Given the description of an element on the screen output the (x, y) to click on. 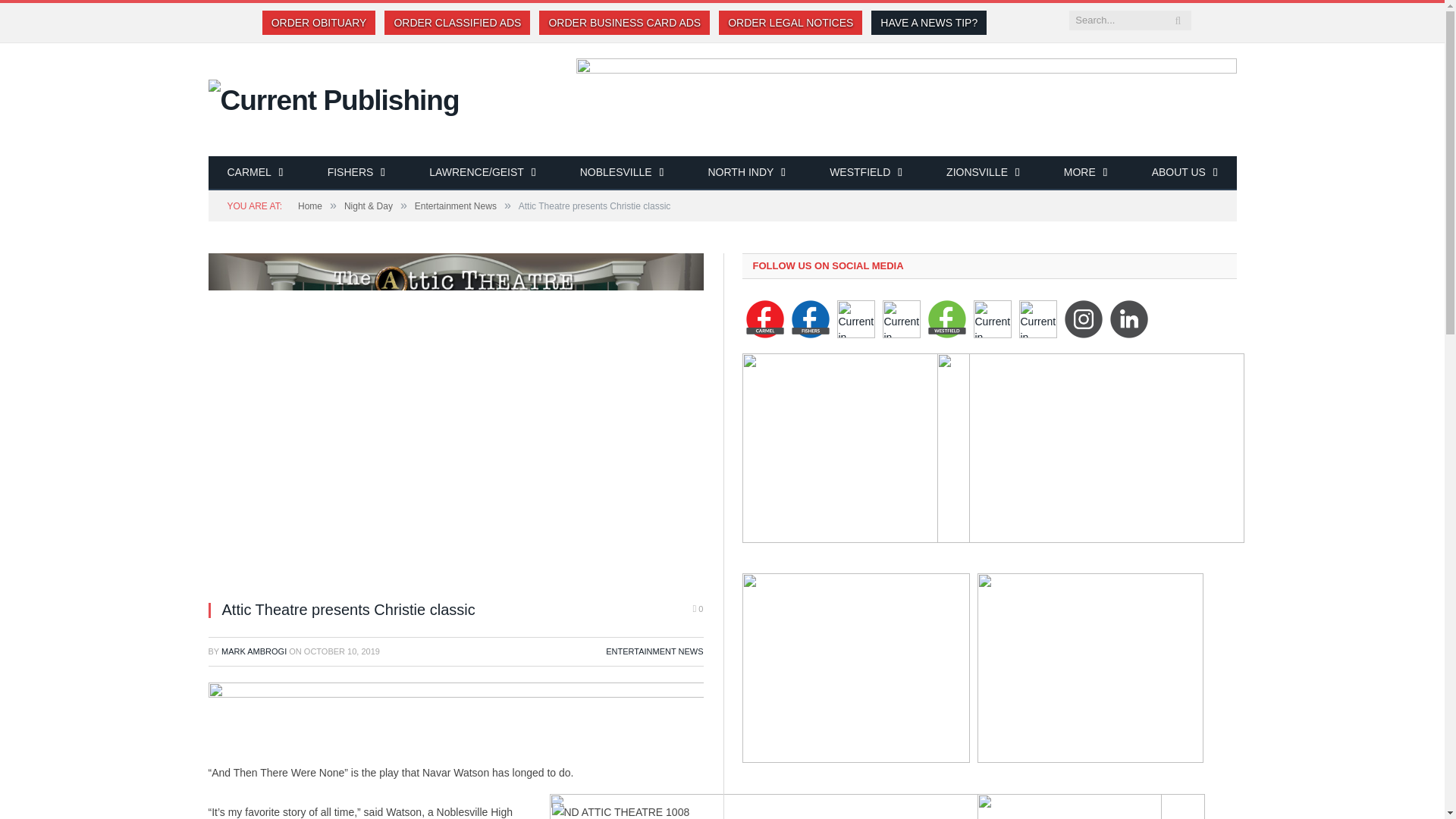
Posts by Mark Ambrogi (253, 651)
Current Publishing (333, 97)
Attic Theatre presents Christie classic 2 (627, 811)
2019-10-10 (342, 651)
ORDER LEGAL NOTICES (790, 22)
NORTH INDY (745, 173)
ORDER OBITUARY (318, 22)
HAVE A NEWS TIP? (928, 22)
NOBLESVILLE (621, 173)
Current in Carmel Facebook (764, 319)
CARMEL (254, 173)
ORDER BUSINESS CARD ADS (624, 22)
FISHERS (356, 173)
ORDER CLASSIFIED ADS (456, 22)
